Given the description of an element on the screen output the (x, y) to click on. 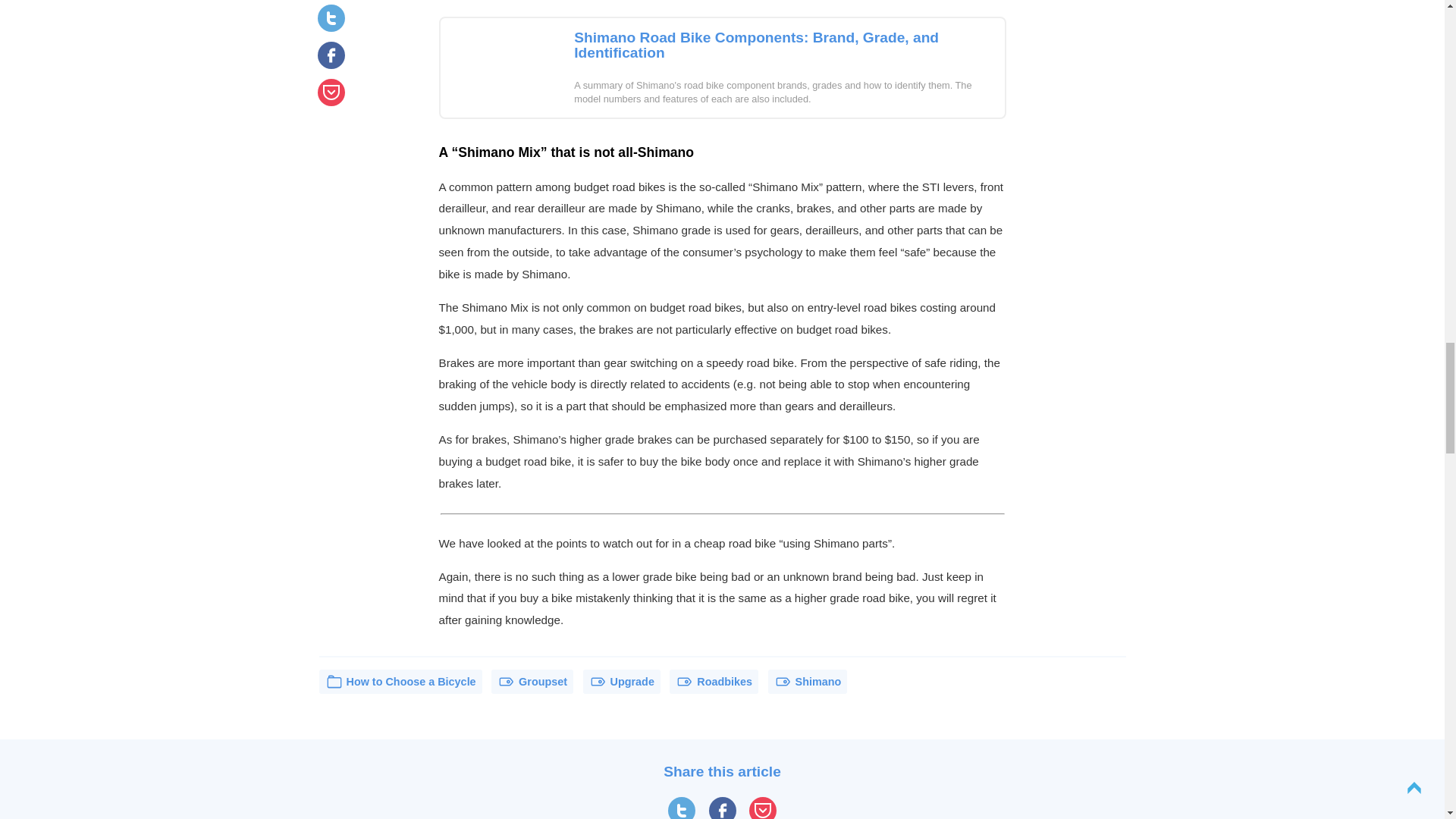
Save to Pocket (762, 807)
Share to Twitter (681, 807)
Groupset (532, 681)
Share to Facebook (721, 807)
Shimano (807, 681)
Upgrade (622, 681)
Roadbikes (713, 681)
How to Choose a Bicycle (399, 681)
